Given the description of an element on the screen output the (x, y) to click on. 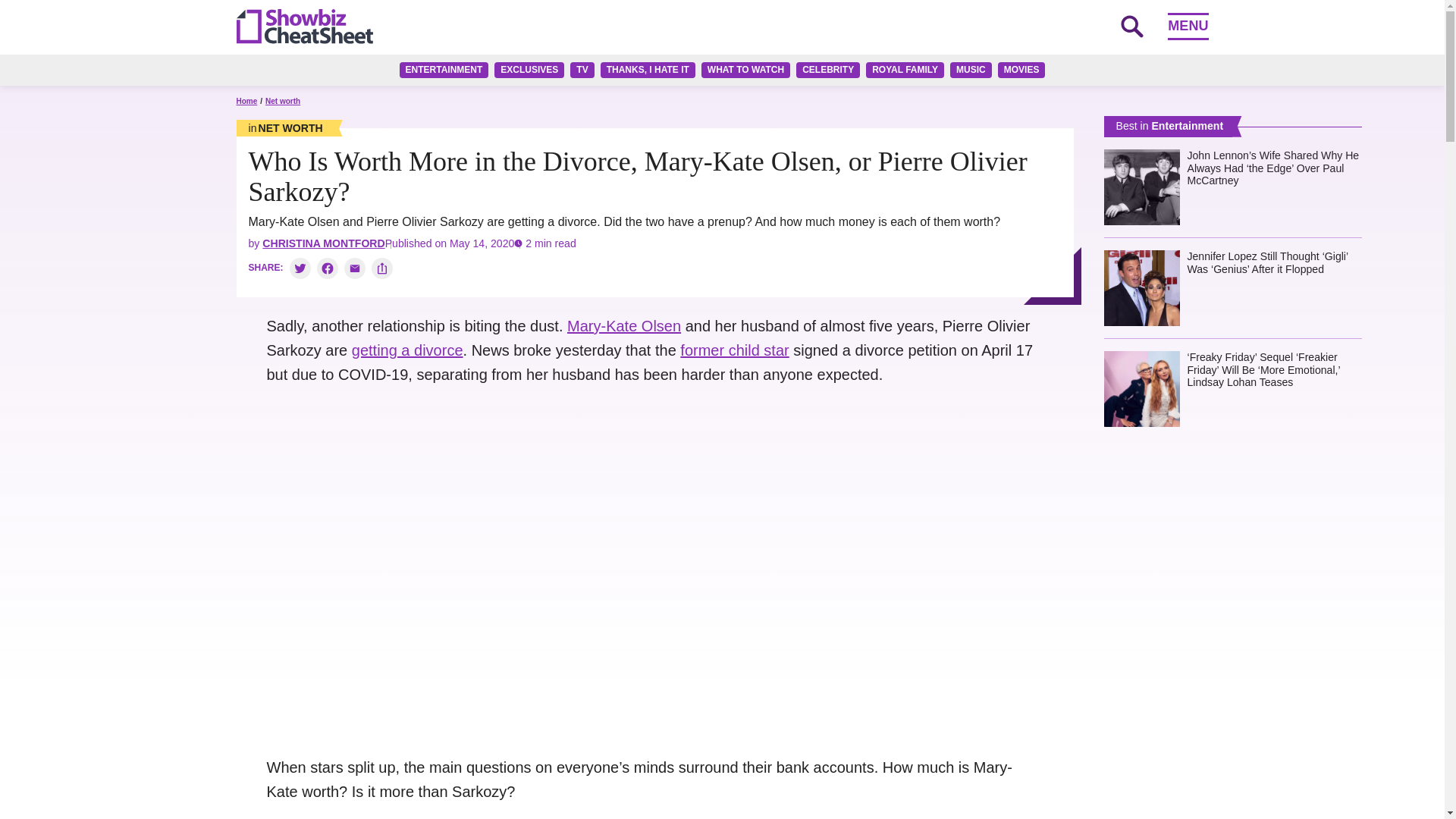
Copy link (382, 268)
MENU (1187, 26)
CHRISTINA MONTFORD (323, 243)
Showbiz Cheat Sheet (303, 26)
ROYAL FAMILY (904, 69)
Net worth (284, 127)
CELEBRITY (828, 69)
EXCLUSIVES (529, 69)
THANKS, I HATE IT (647, 69)
Mary-Kate Olsen (624, 325)
